Given the description of an element on the screen output the (x, y) to click on. 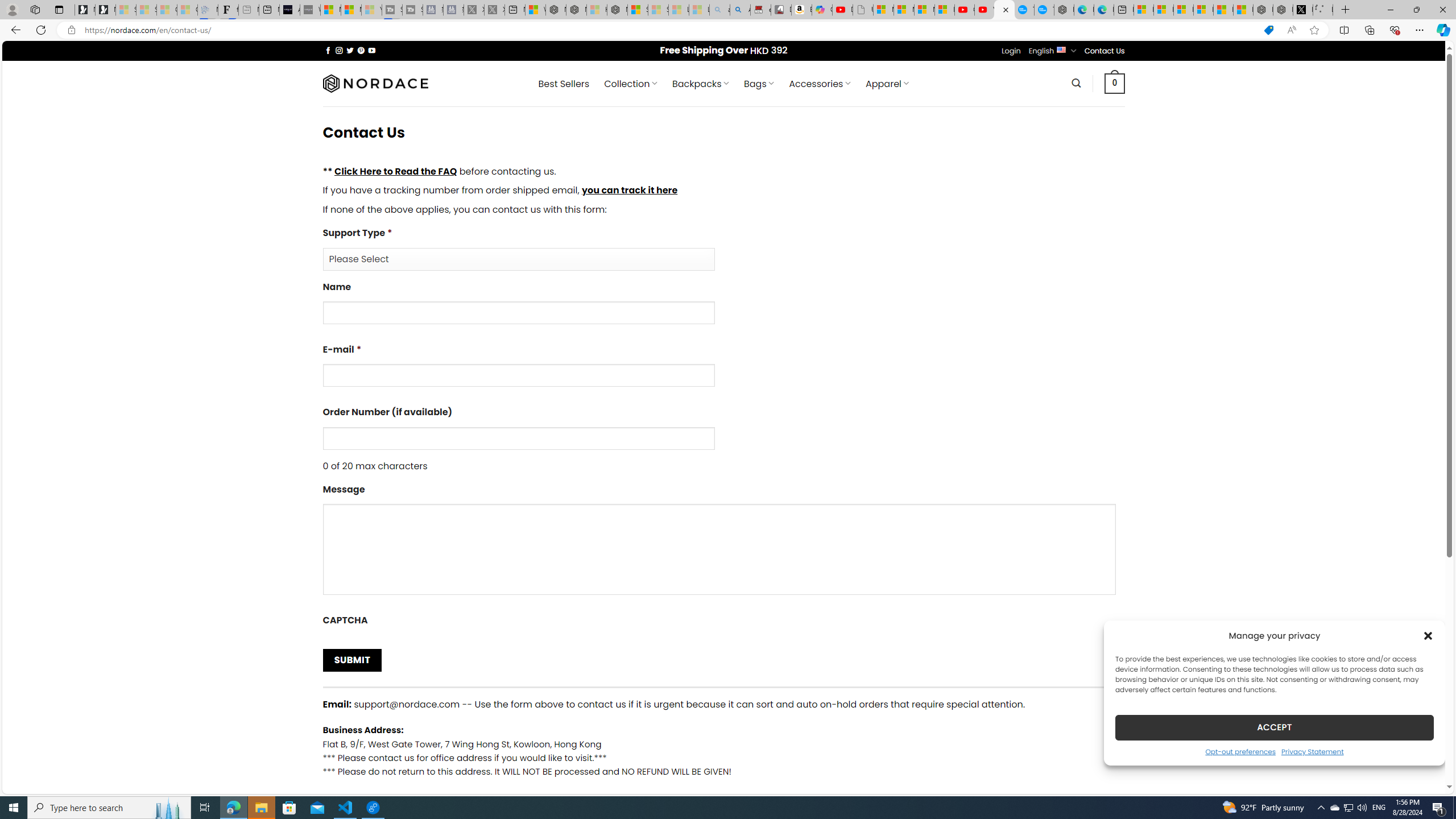
English (1061, 49)
Follow on Twitter (349, 49)
Gloom - YouTube (964, 9)
